Given the description of an element on the screen output the (x, y) to click on. 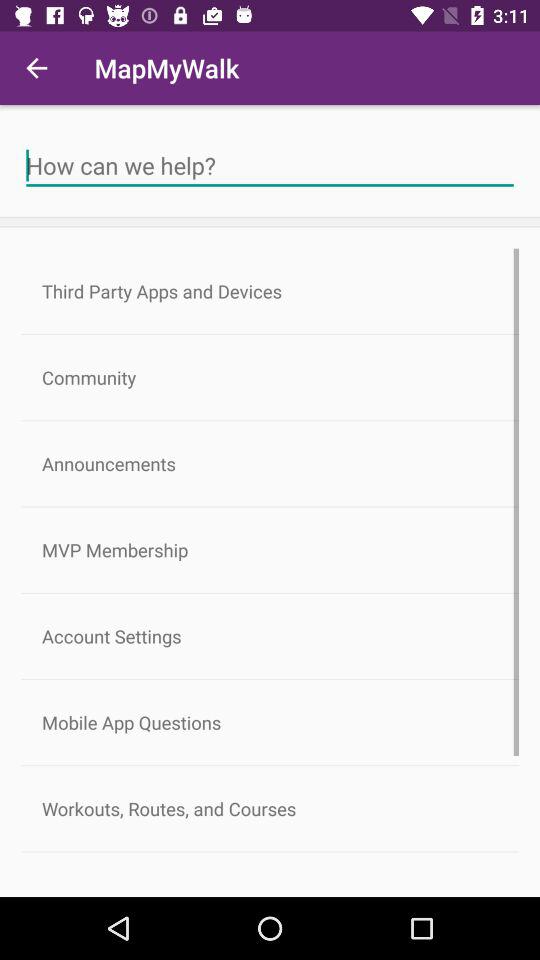
enter question (270, 165)
